Given the description of an element on the screen output the (x, y) to click on. 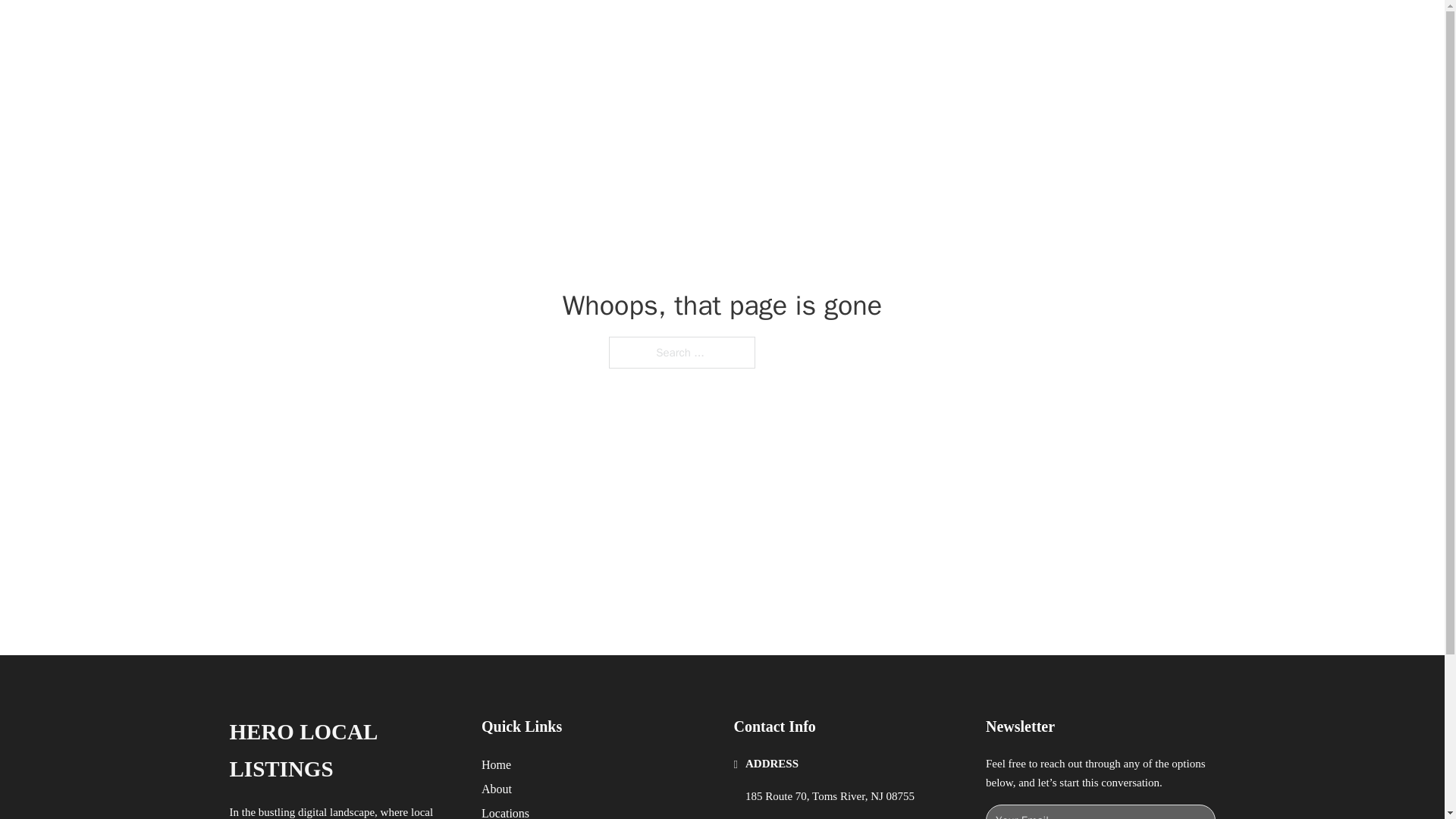
HERO LOCAL LISTINGS (422, 28)
HERO LOCAL LISTINGS (343, 750)
HOME (919, 29)
Home (496, 764)
About (496, 788)
LOCATIONS (990, 29)
Locations (505, 811)
